Given the description of an element on the screen output the (x, y) to click on. 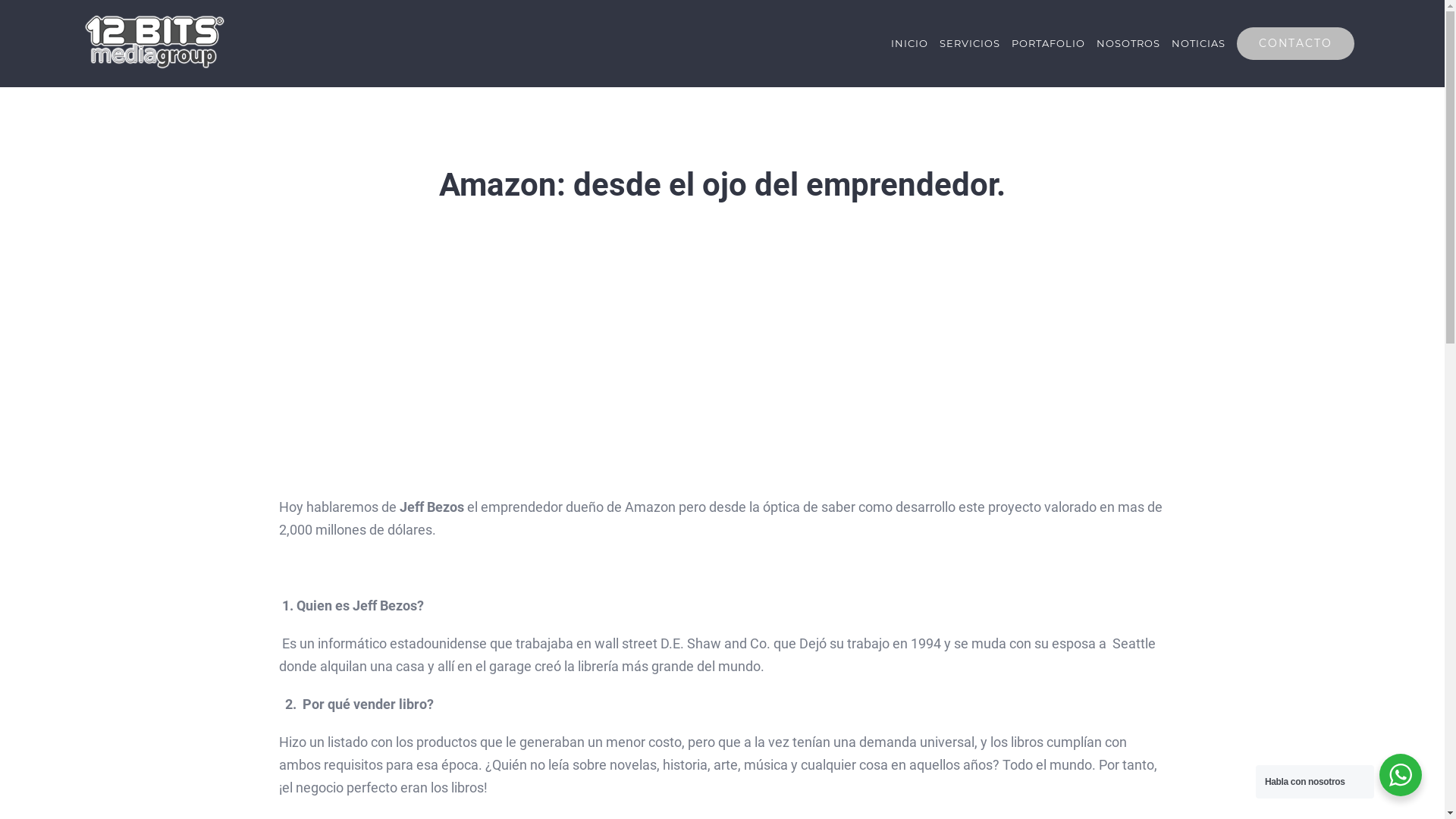
NOTICIAS Element type: text (1198, 42)
SERVICIOS Element type: text (969, 42)
INICIO Element type: text (909, 42)
CONTACTO Element type: text (1295, 42)
PORTAFOLIO Element type: text (1048, 42)
e13ad07c04984d10b402e44dd866dc66 - 12 Bits Media Group Element type: hover (721, 360)
NOSOTROS Element type: text (1128, 42)
